Given the description of an element on the screen output the (x, y) to click on. 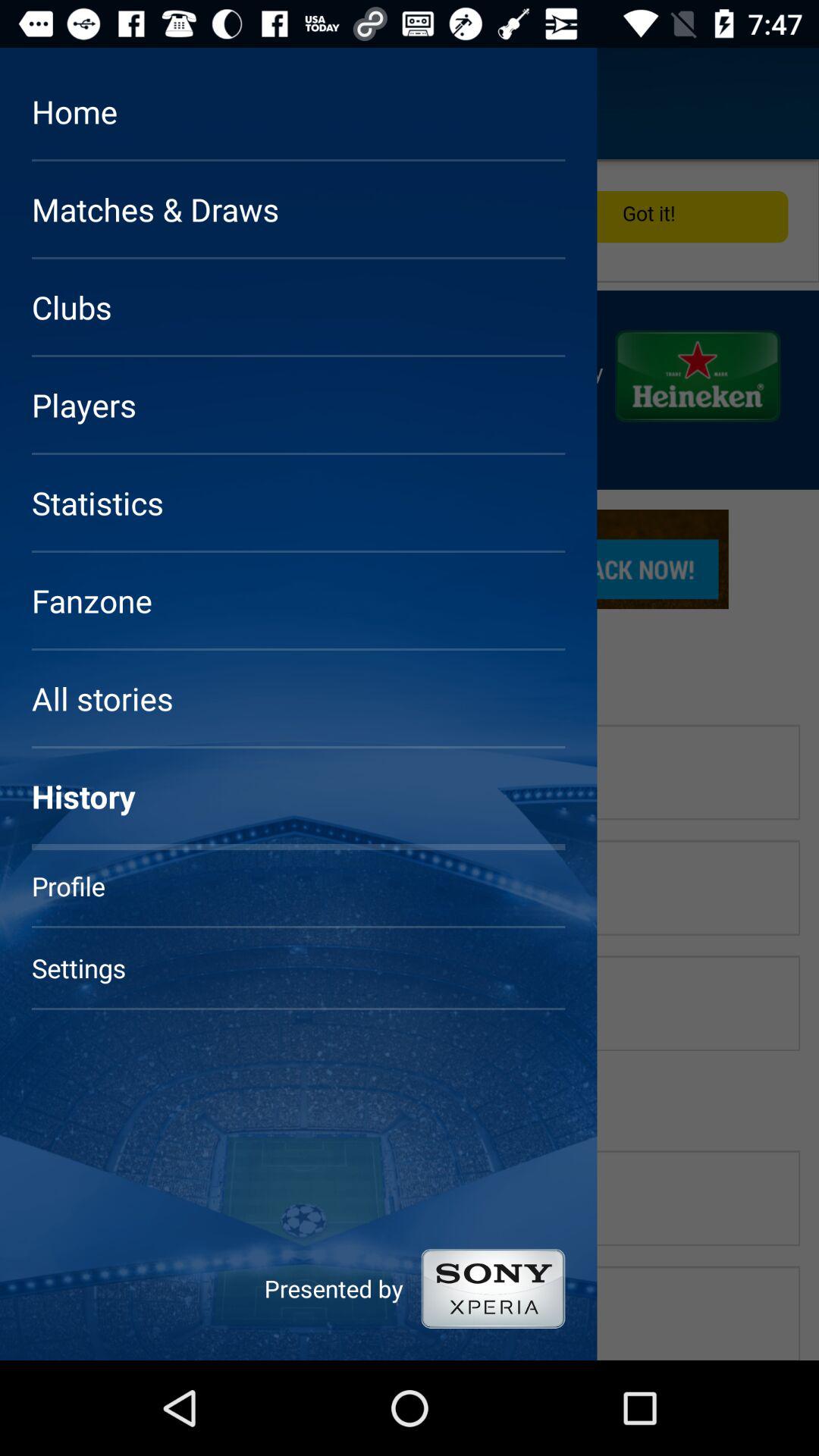
main image screen (409, 759)
